Given the description of an element on the screen output the (x, y) to click on. 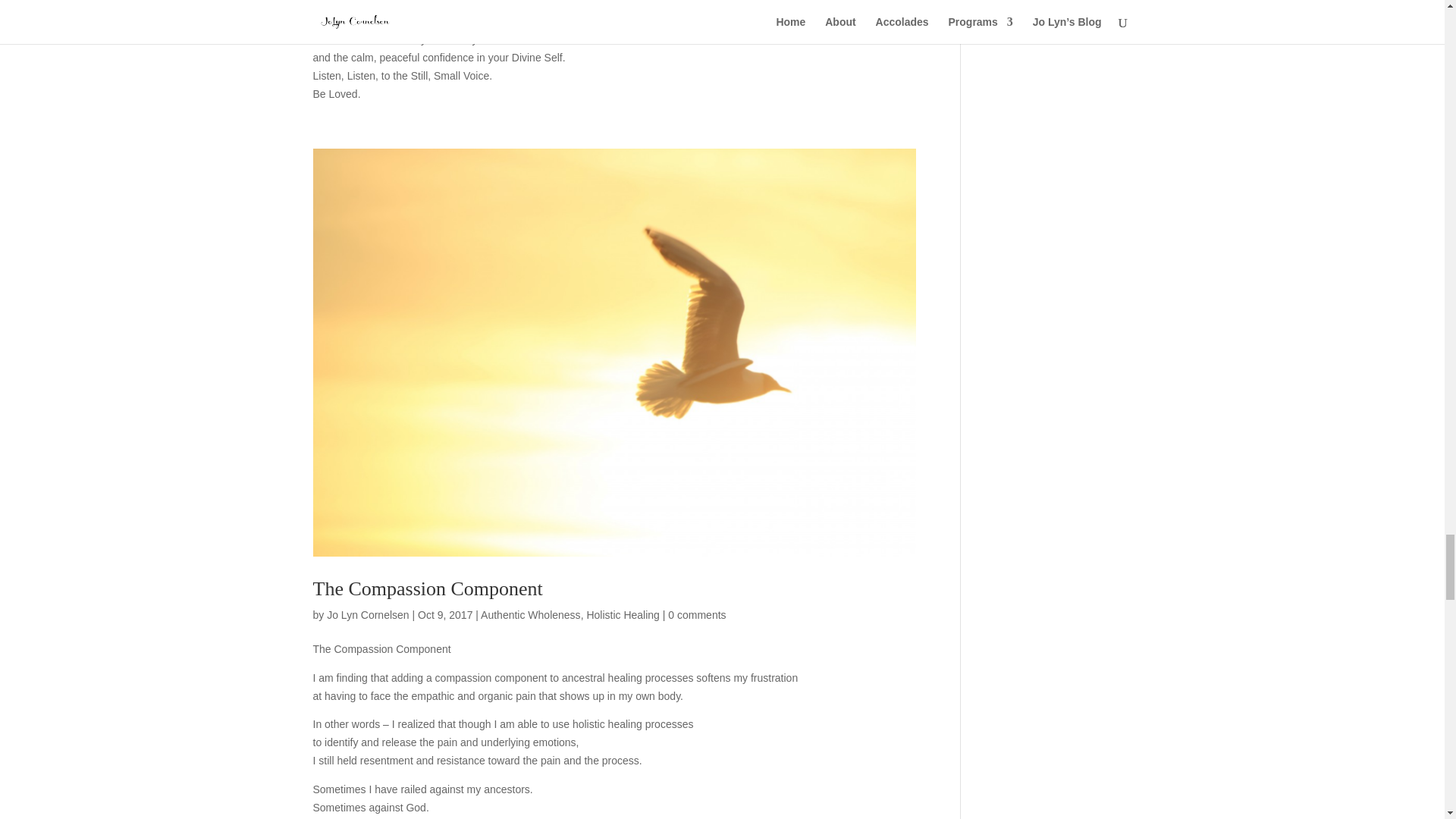
Posts by Jo Lyn Cornelsen (367, 614)
